Given the description of an element on the screen output the (x, y) to click on. 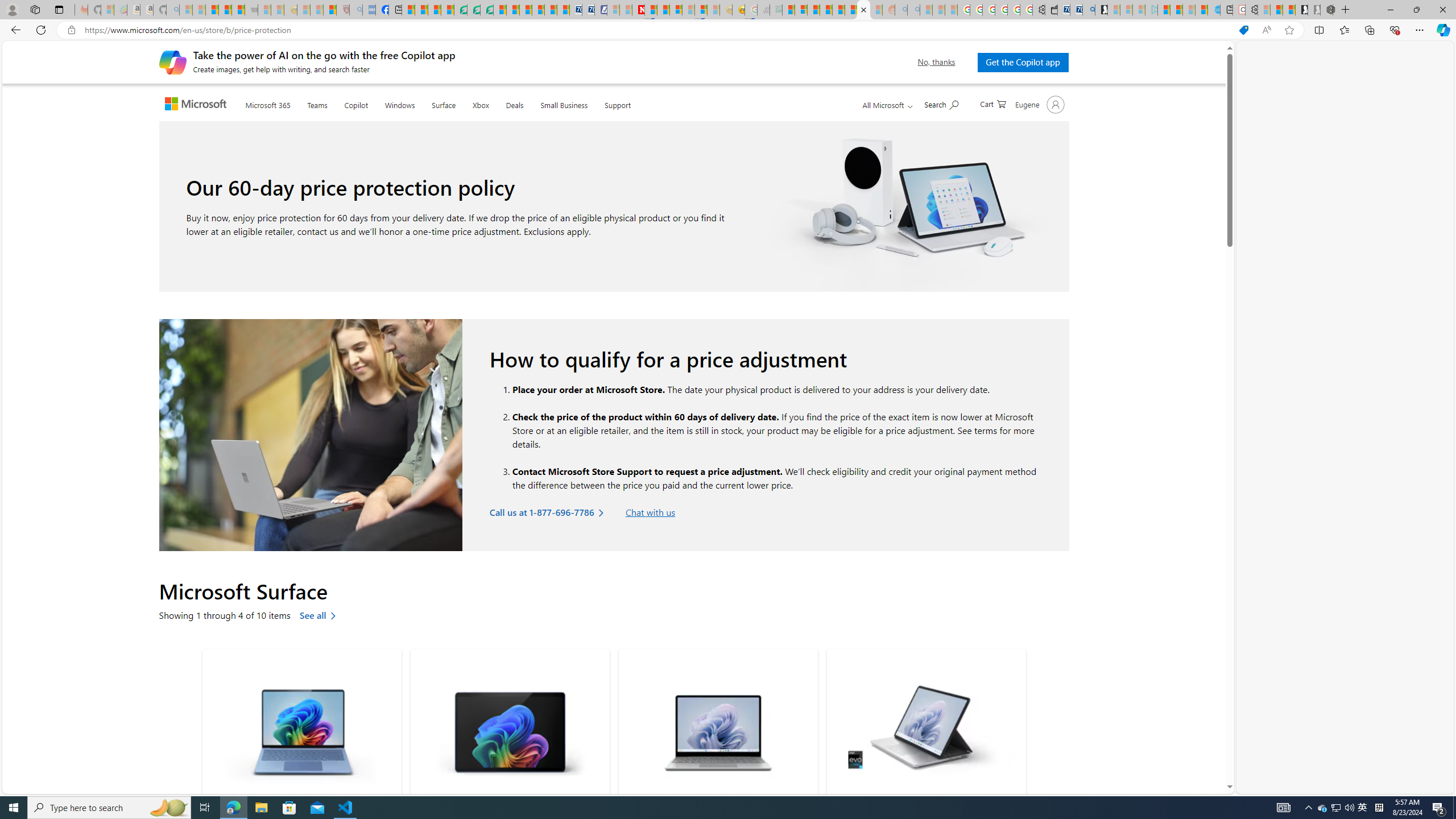
Surface (443, 103)
Latest Politics News & Archive | Newsweek.com (638, 9)
Deals (514, 103)
Microsoft (197, 105)
Utah sues federal government - Search - Sleeping (913, 9)
Combat Siege (251, 9)
Copilot (356, 103)
The Weather Channel - MSN (212, 9)
